Given the description of an element on the screen output the (x, y) to click on. 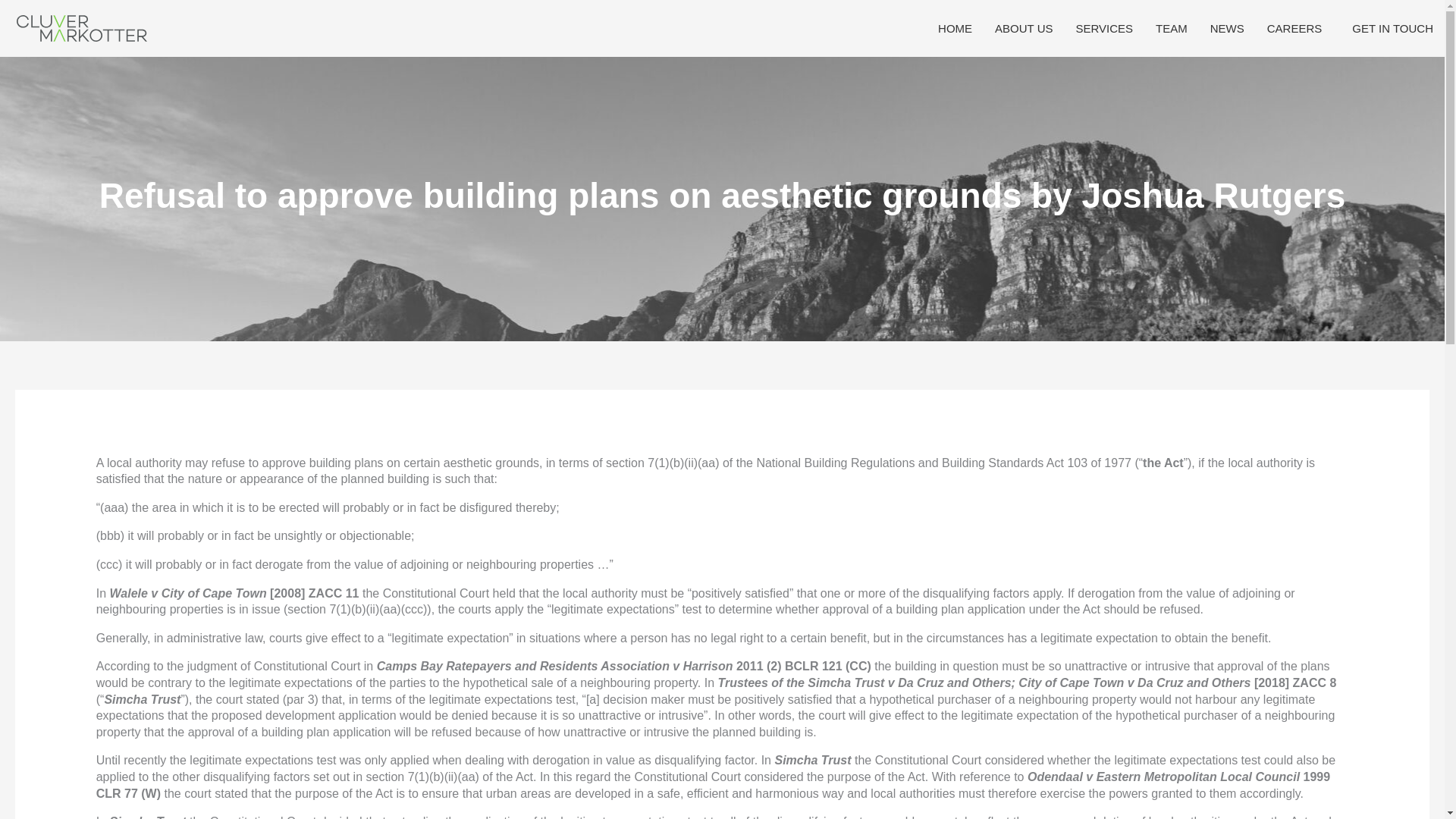
NEWS (1226, 28)
SERVICES (1104, 28)
TEAM (1171, 28)
CAREERS (1297, 28)
ABOUT US (1024, 28)
HOME (955, 28)
